Given the description of an element on the screen output the (x, y) to click on. 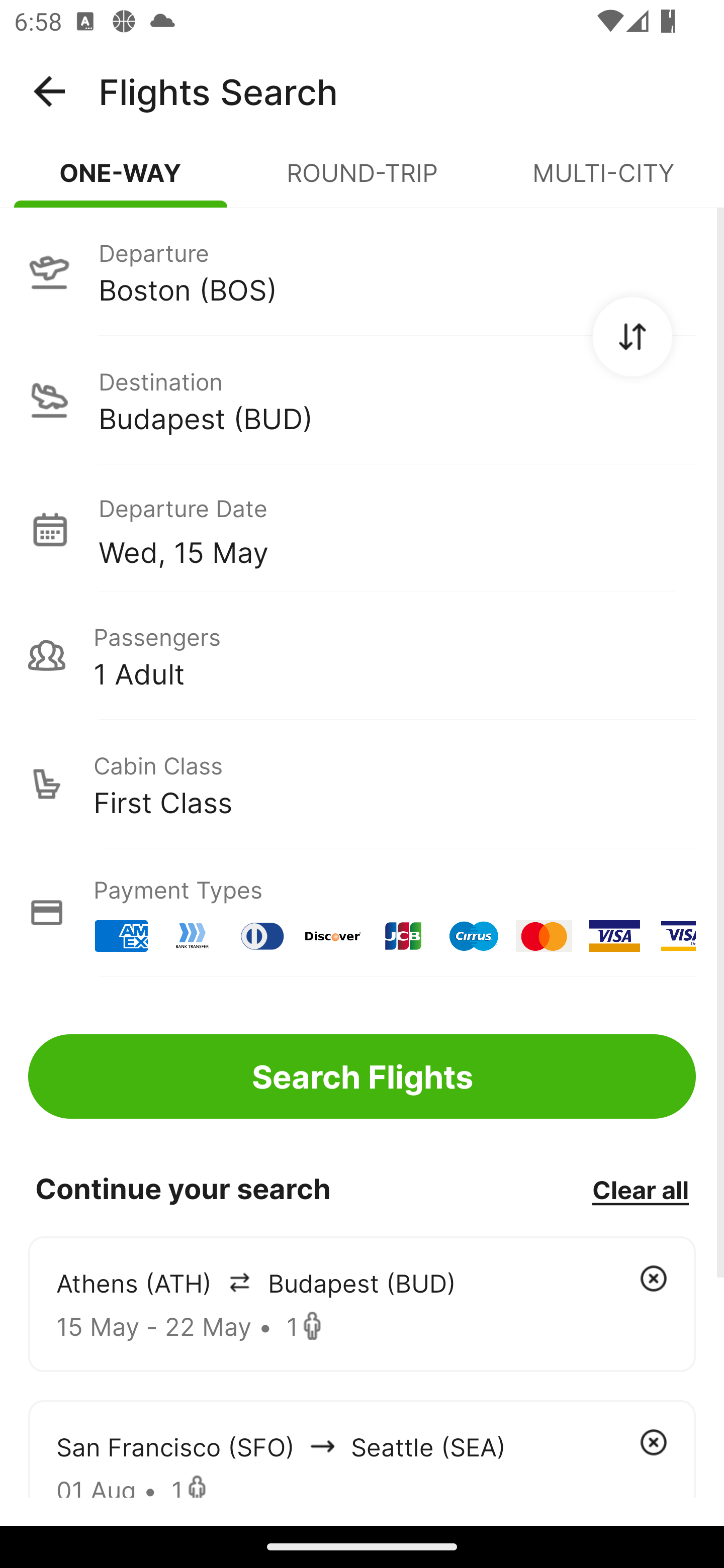
ONE-WAY (120, 180)
ROUND-TRIP (361, 180)
MULTI-CITY (603, 180)
Departure Boston (BOS) (362, 270)
Destination Budapest (BUD) (362, 400)
Departure Date Wed, 15 May (396, 528)
Passengers 1 Adult (362, 655)
Cabin Class First Class (362, 783)
Payment Types (362, 912)
Search Flights (361, 1075)
Clear all (640, 1189)
